Given the description of an element on the screen output the (x, y) to click on. 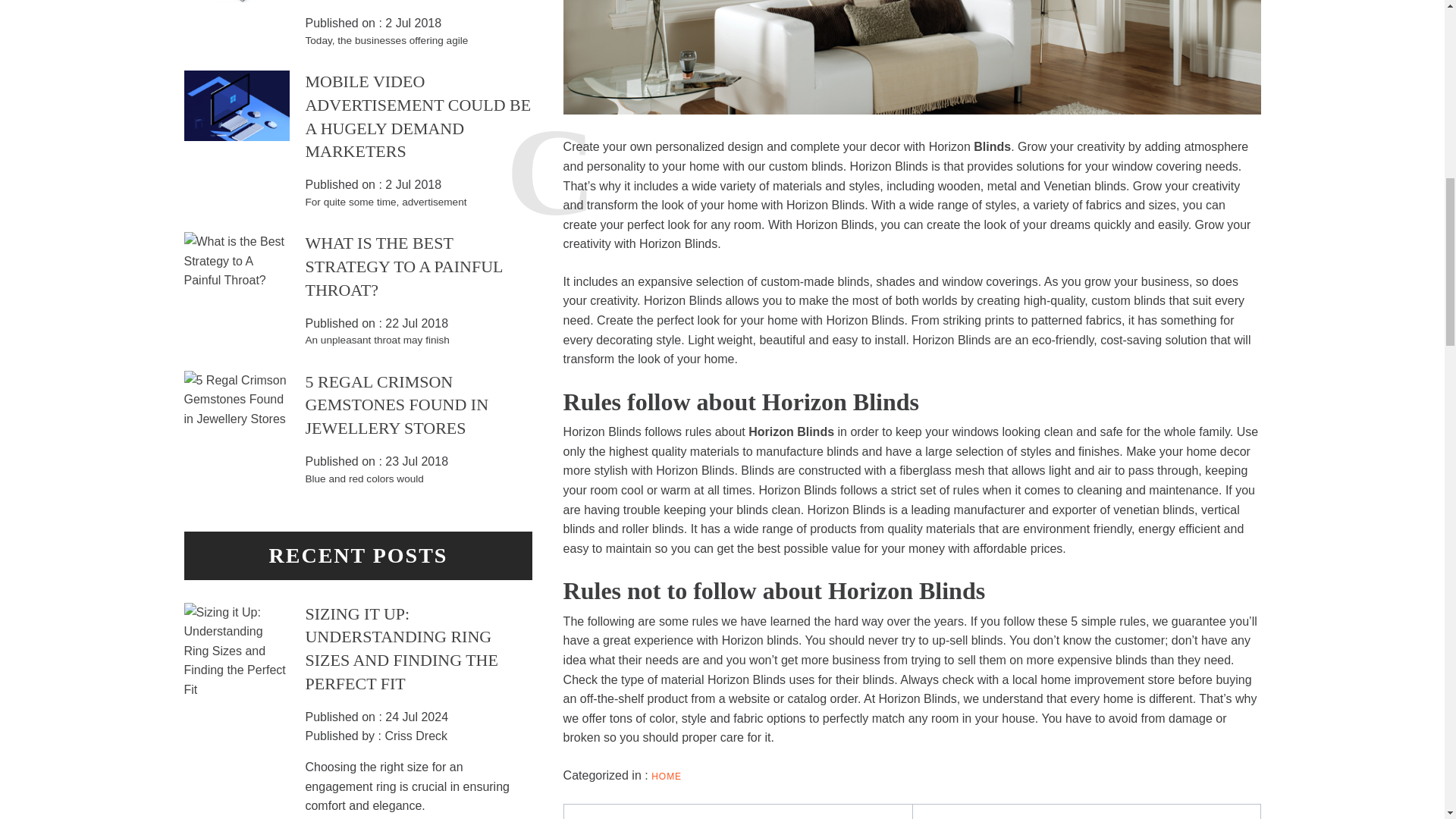
5 REGAL CRIMSON GEMSTONES FOUND IN JEWELLERY STORES (395, 405)
WHAT IS THE BEST STRATEGY TO A PAINFUL THROAT? (403, 266)
HOME (665, 776)
Blinds (992, 146)
Horizon Blinds (791, 431)
